Given the description of an element on the screen output the (x, y) to click on. 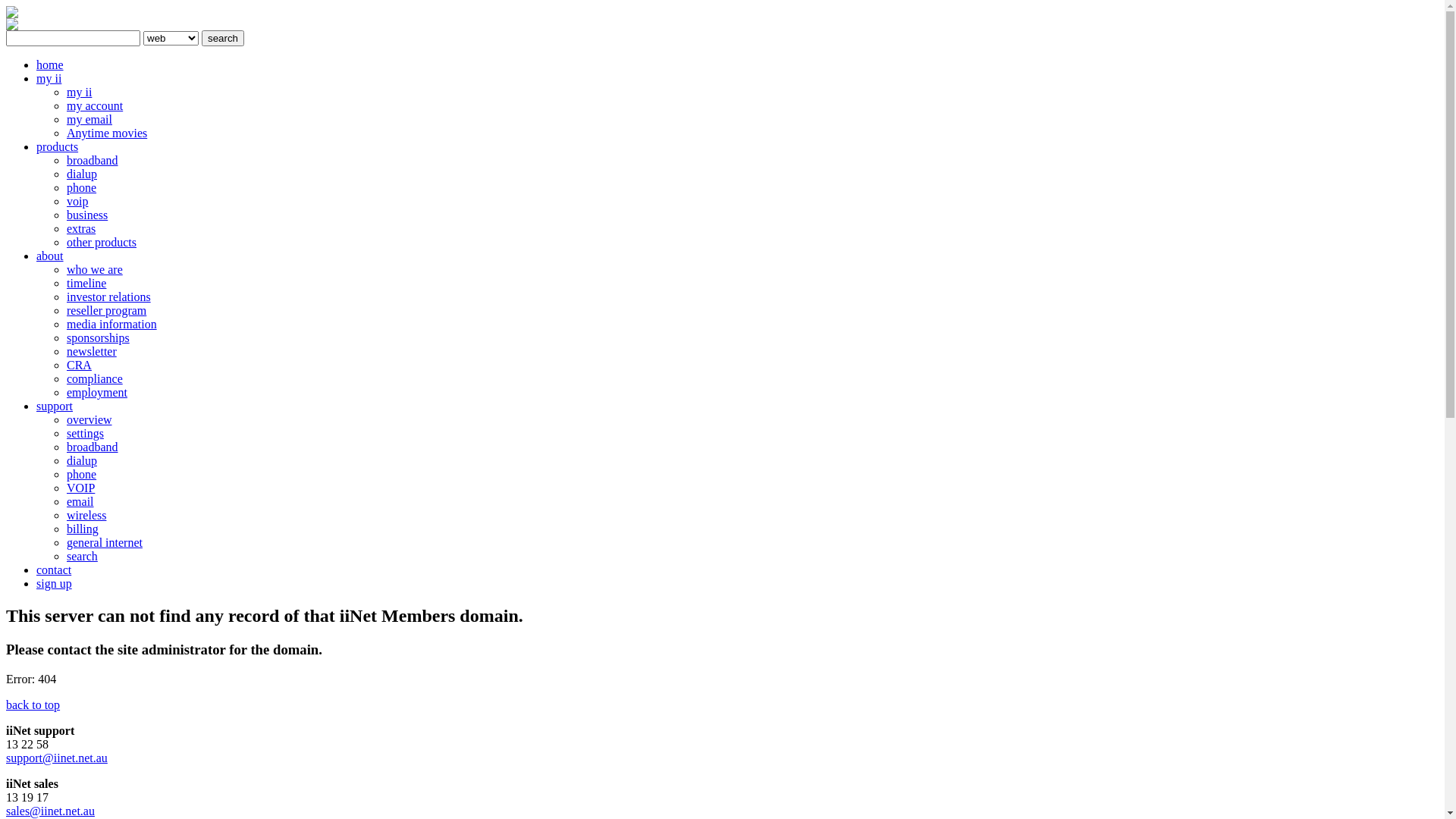
dialup Element type: text (81, 460)
media information Element type: text (111, 323)
my ii Element type: text (78, 91)
overview Element type: text (89, 419)
phone Element type: text (81, 473)
products Element type: text (57, 146)
billing Element type: text (82, 528)
sign up Element type: text (54, 583)
search Element type: text (222, 38)
voip Element type: text (76, 200)
contact Element type: text (53, 569)
general internet Element type: text (104, 542)
settings Element type: text (84, 432)
employment Element type: text (96, 391)
Anytime movies Element type: text (106, 132)
my email Element type: text (89, 118)
CRA Element type: text (78, 364)
VOIP Element type: text (80, 487)
my account Element type: text (94, 105)
other products Element type: text (101, 241)
broadband Element type: text (92, 446)
my ii Element type: text (48, 78)
sponsorships Element type: text (97, 337)
wireless Element type: text (86, 514)
who we are Element type: text (94, 269)
about Element type: text (49, 255)
extras Element type: text (80, 228)
newsletter Element type: text (91, 351)
phone Element type: text (81, 187)
reseller program Element type: text (106, 310)
compliance Element type: text (94, 378)
home Element type: text (49, 64)
timeline Element type: text (86, 282)
support@iinet.net.au Element type: text (56, 757)
search Element type: text (81, 555)
email Element type: text (80, 501)
dialup Element type: text (81, 173)
business Element type: text (86, 214)
sales@iinet.net.au Element type: text (50, 810)
support Element type: text (54, 405)
back to top Element type: text (32, 704)
broadband Element type: text (92, 159)
investor relations Element type: text (108, 296)
